Given the description of an element on the screen output the (x, y) to click on. 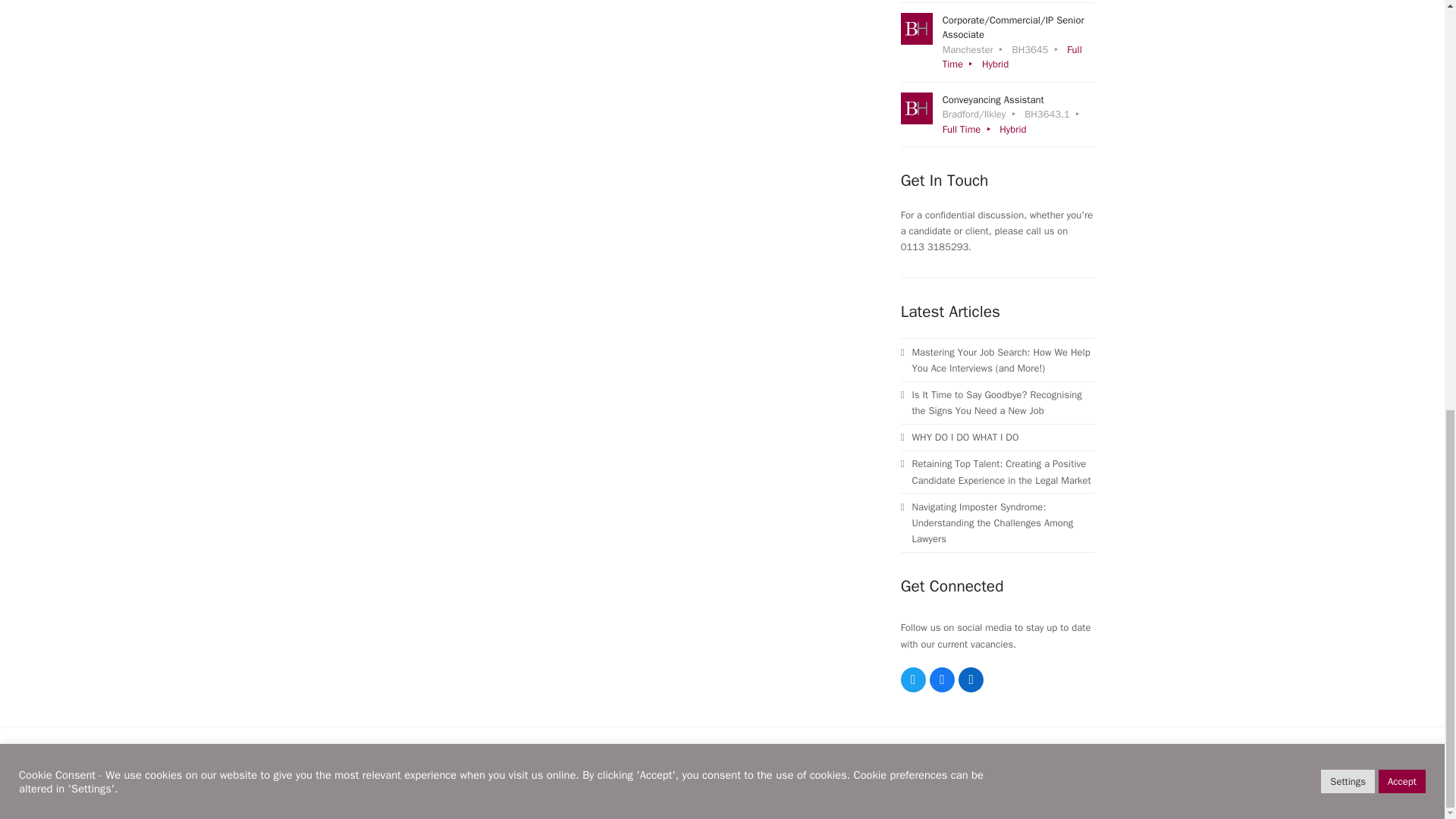
WHY DO I DO WHAT I DO (997, 437)
LinkedIn (971, 679)
Facebook (942, 679)
Twitter (913, 679)
